Given the description of an element on the screen output the (x, y) to click on. 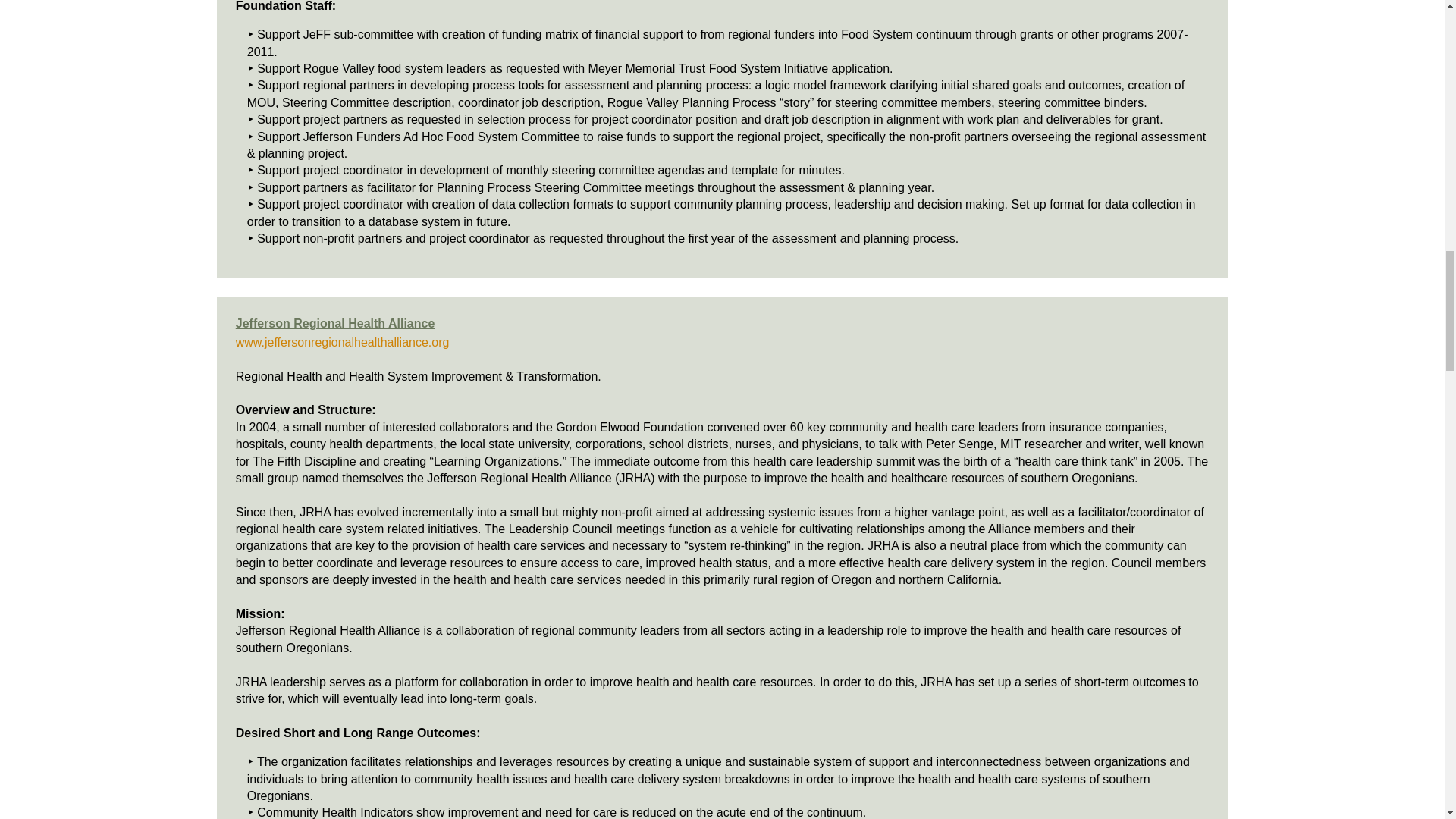
www.jeffersonregionalhealthalliance.org (342, 341)
